Given the description of an element on the screen output the (x, y) to click on. 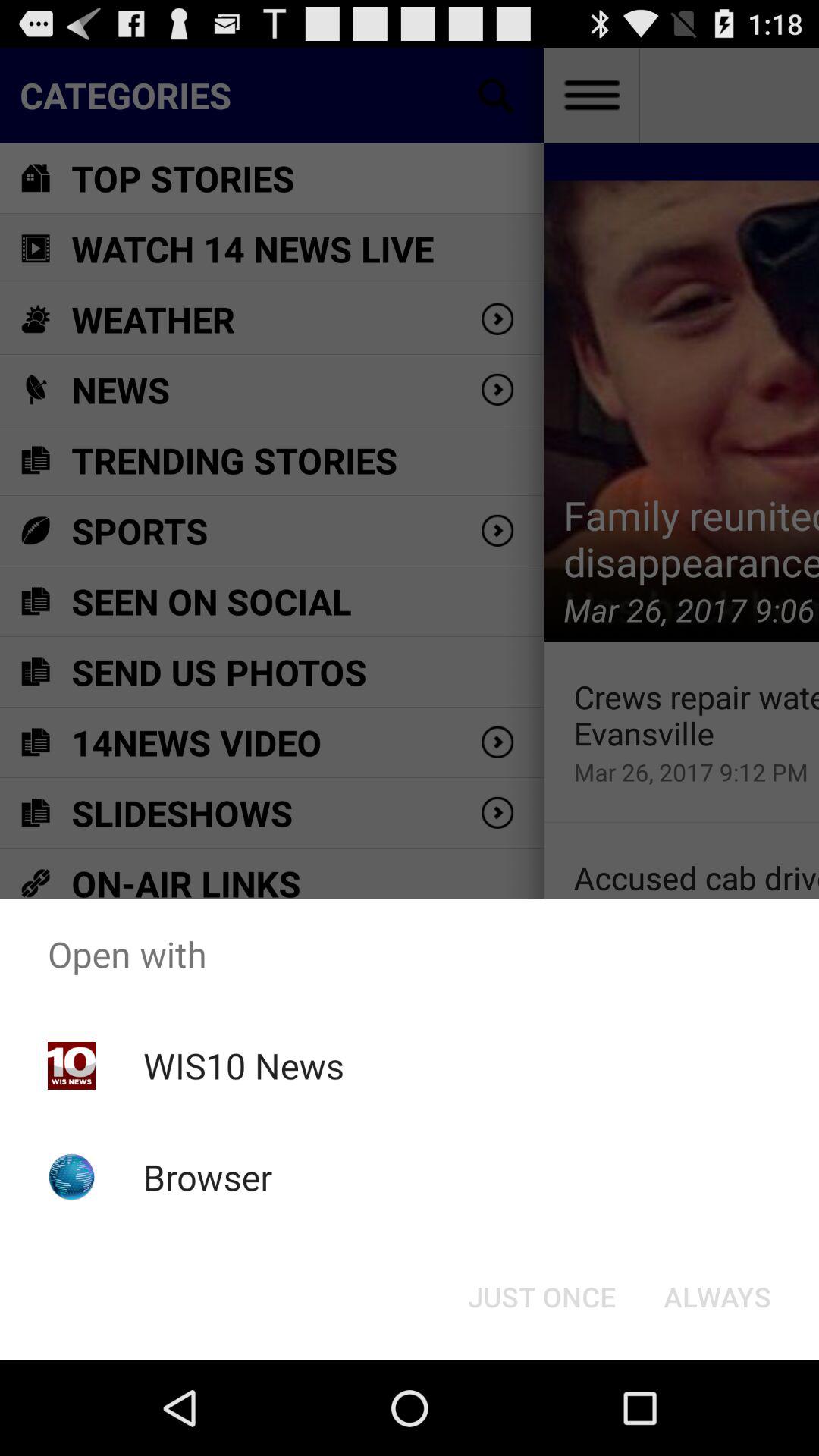
launch always button (717, 1296)
